Given the description of an element on the screen output the (x, y) to click on. 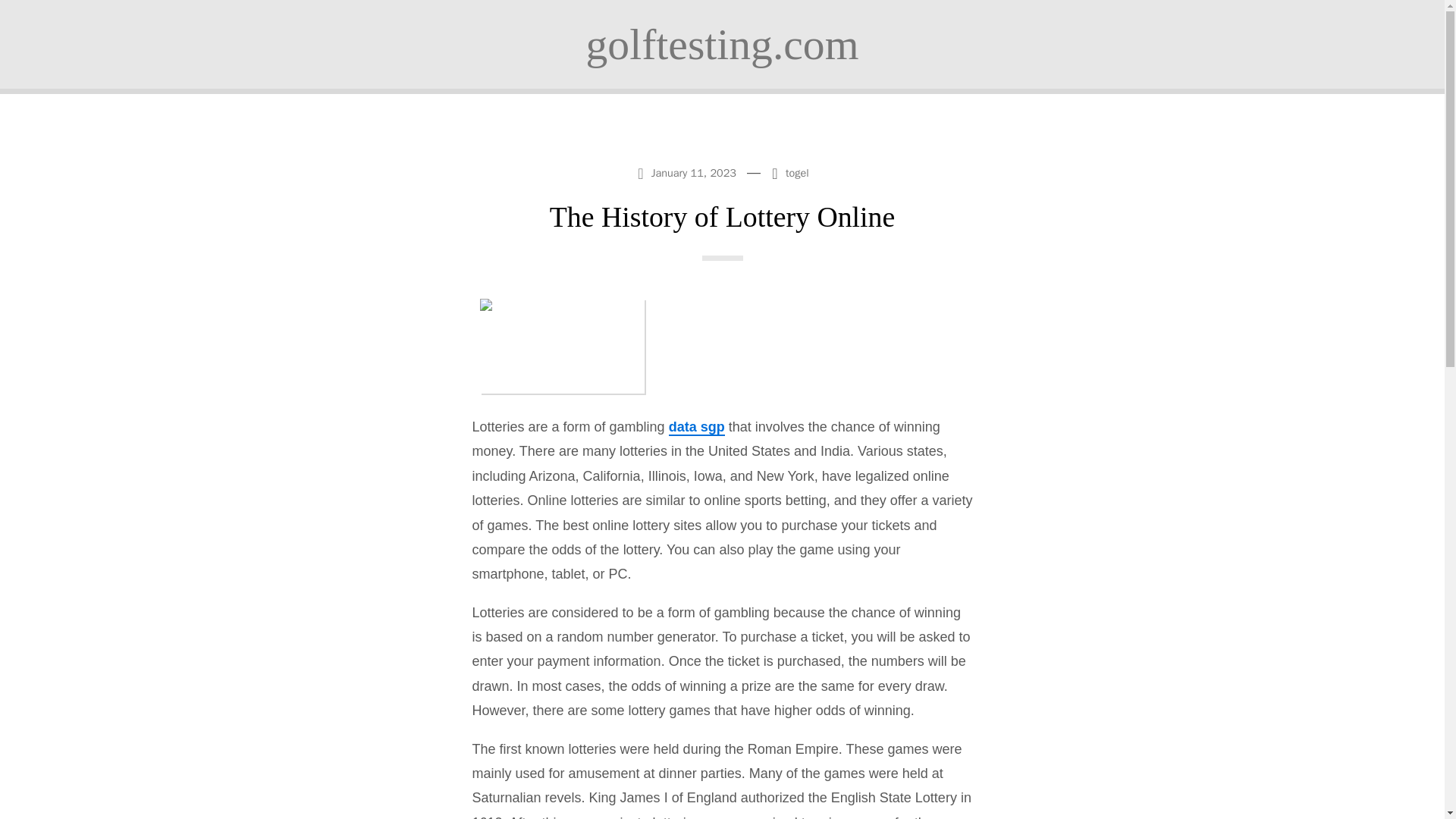
January 11, 2023 (687, 171)
The History of Lottery Online (722, 216)
togel (797, 172)
golftesting.com (722, 43)
data sgp (696, 427)
